Given the description of an element on the screen output the (x, y) to click on. 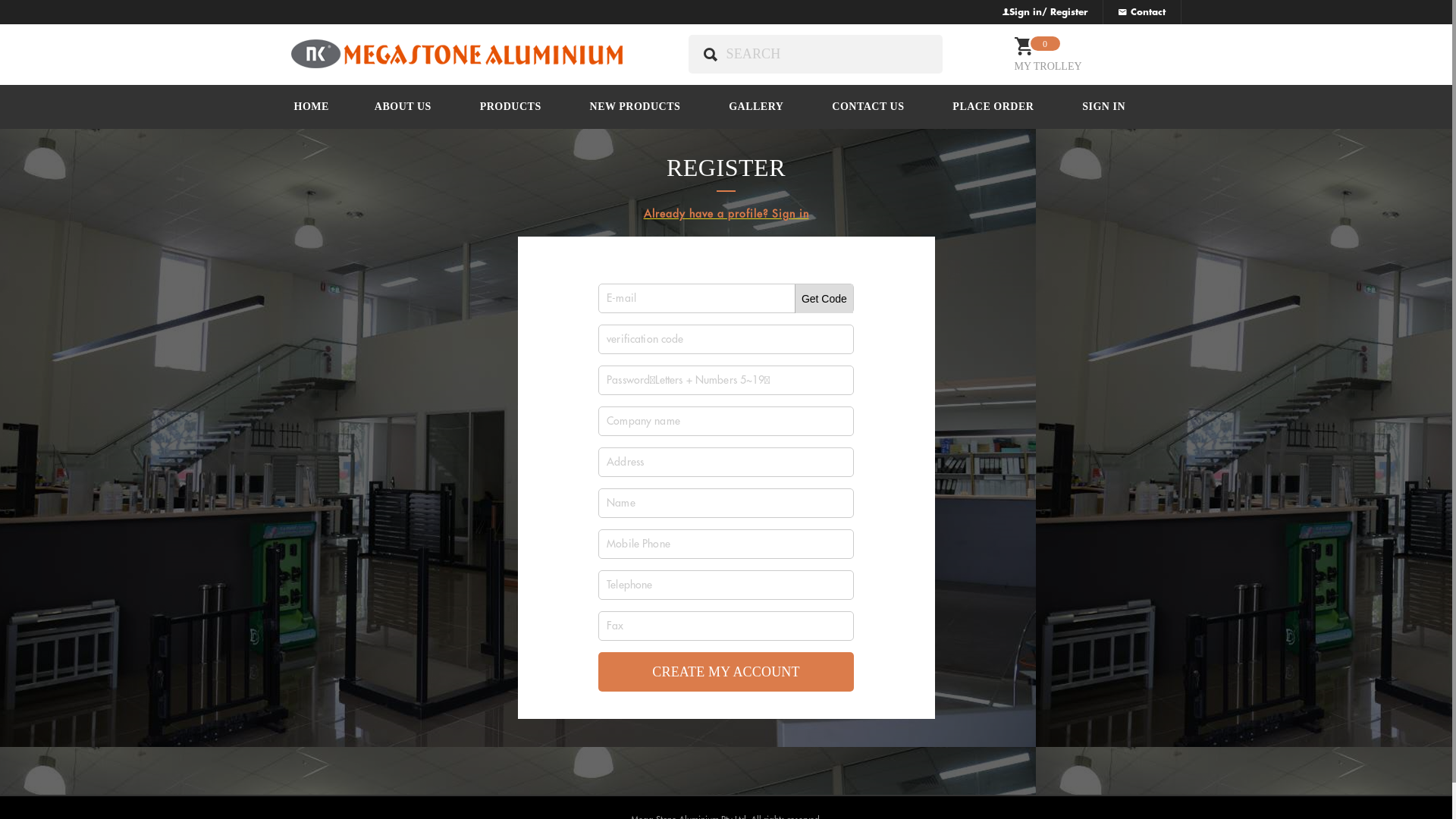
ABOUT US Element type: text (402, 106)
Contact Element type: text (1140, 11)
HOME Element type: text (311, 106)
CREATE MY ACCOUNT Element type: text (725, 671)
Already have a profile? Sign in Element type: text (725, 213)
$title Element type: hover (456, 54)
NEW PRODUCTS Element type: text (635, 106)
0
MY TROLLEY Element type: text (1067, 51)
PRODUCTS Element type: text (510, 106)
GALLERY Element type: text (756, 106)
Sign in Element type: text (1024, 11)
Get Code Element type: text (823, 298)
PLACE ORDER Element type: text (992, 106)
Register Element type: text (1067, 11)
CONTACT US Element type: text (867, 106)
SIGN IN Element type: text (1103, 106)
